Given the description of an element on the screen output the (x, y) to click on. 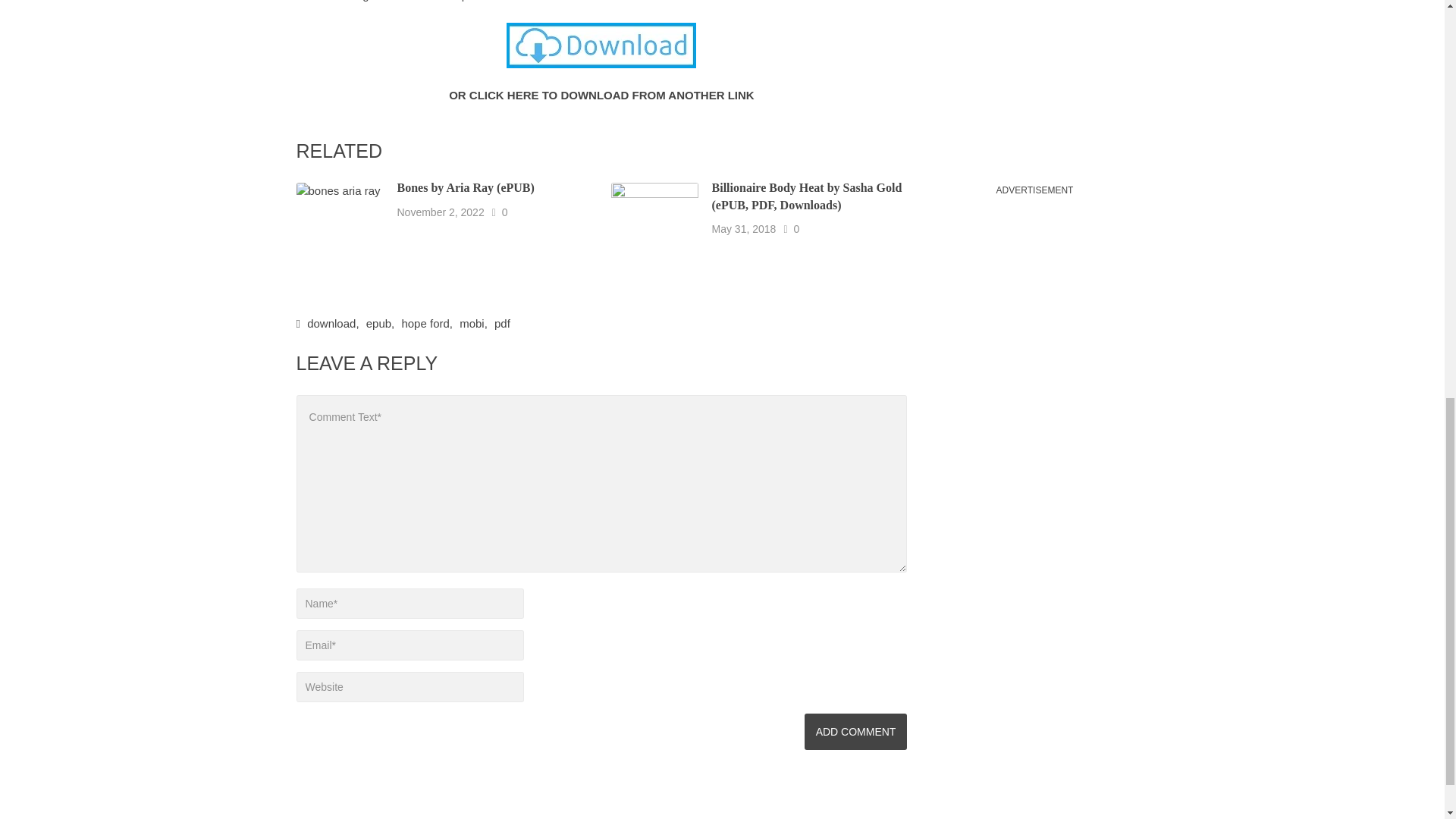
download (331, 323)
hope ford (424, 323)
Add Comment (856, 731)
pdf (503, 323)
OR CLICK HERE TO DOWNLOAD FROM ANOTHER LINK (601, 93)
Add Comment (856, 731)
mobi (472, 323)
epub (378, 323)
